Given the description of an element on the screen output the (x, y) to click on. 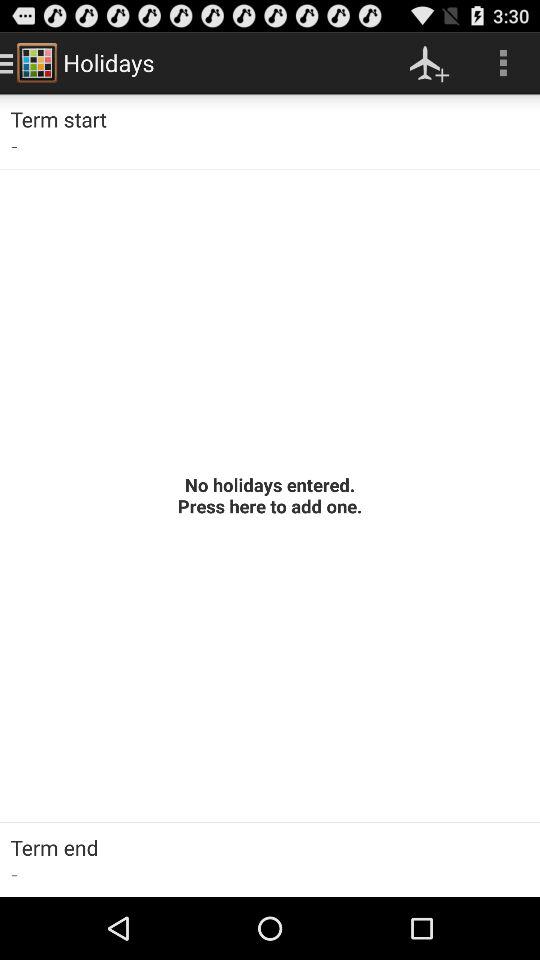
open the app next to the holidays (429, 62)
